Given the description of an element on the screen output the (x, y) to click on. 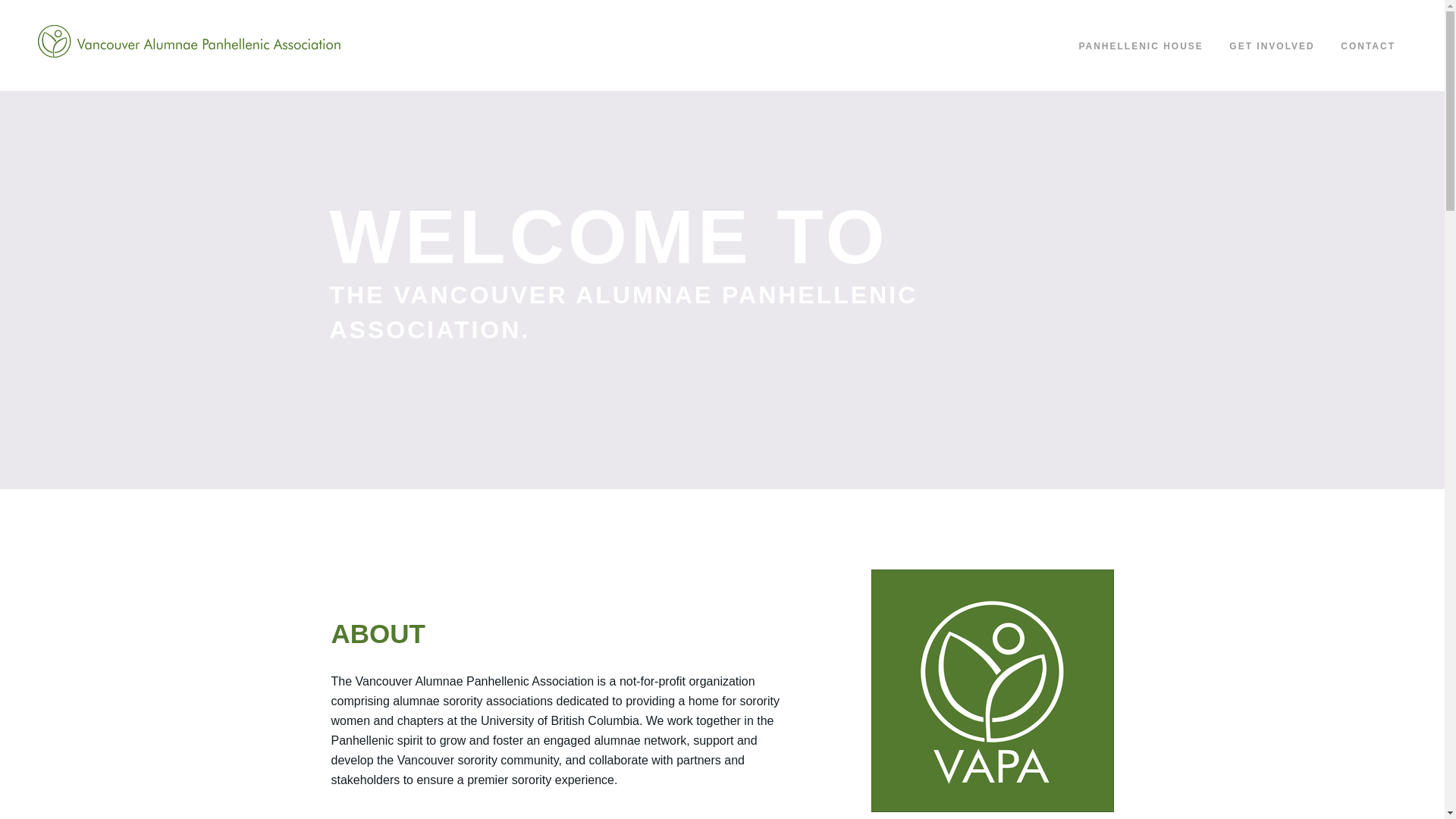
GET INVOLVED Element type: text (1271, 45)
PANHELLENIC HOUSE Element type: text (1140, 45)
CONTACT Element type: text (1367, 45)
